Given the description of an element on the screen output the (x, y) to click on. 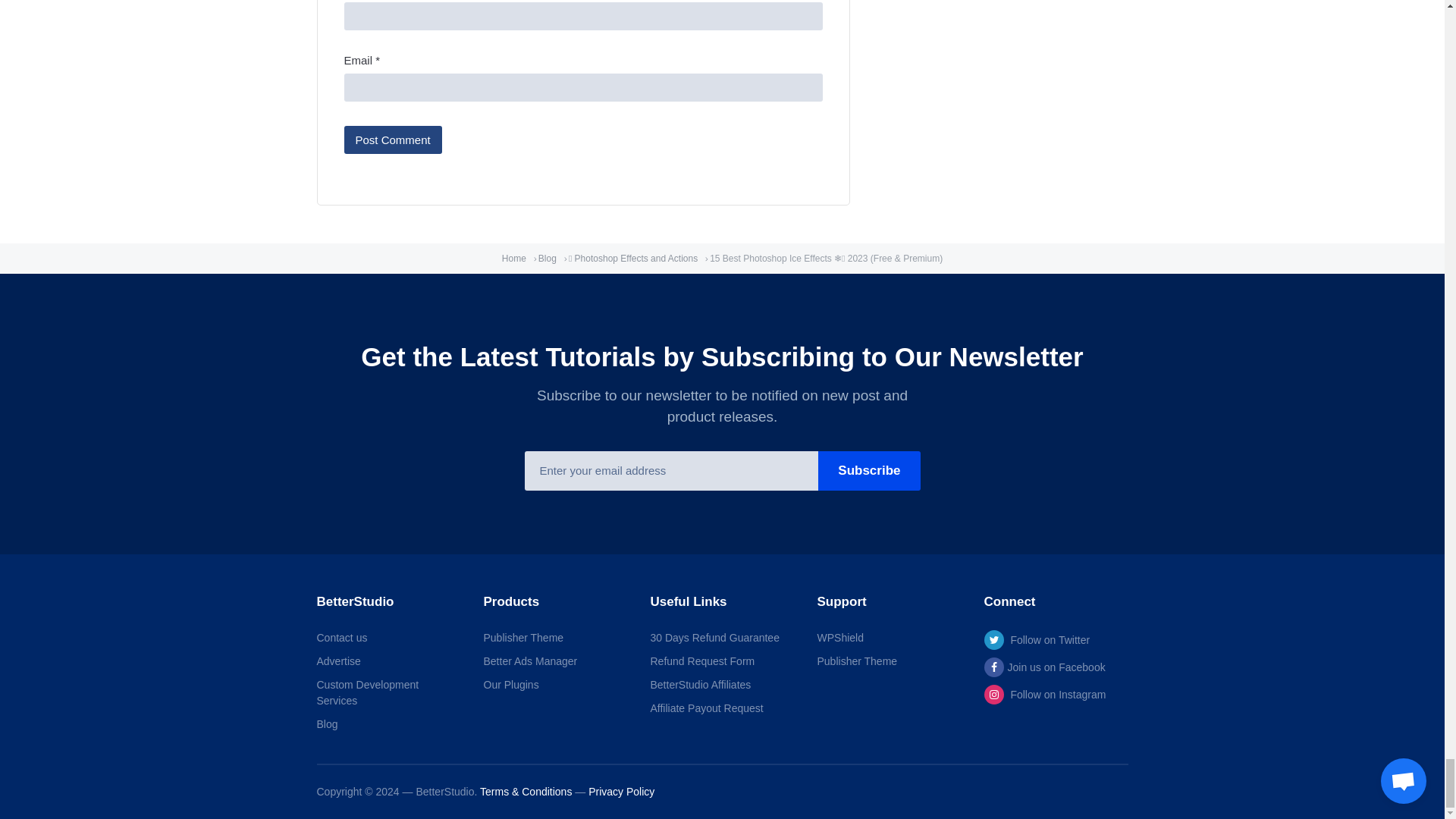
Post Comment (392, 139)
